Given the description of an element on the screen output the (x, y) to click on. 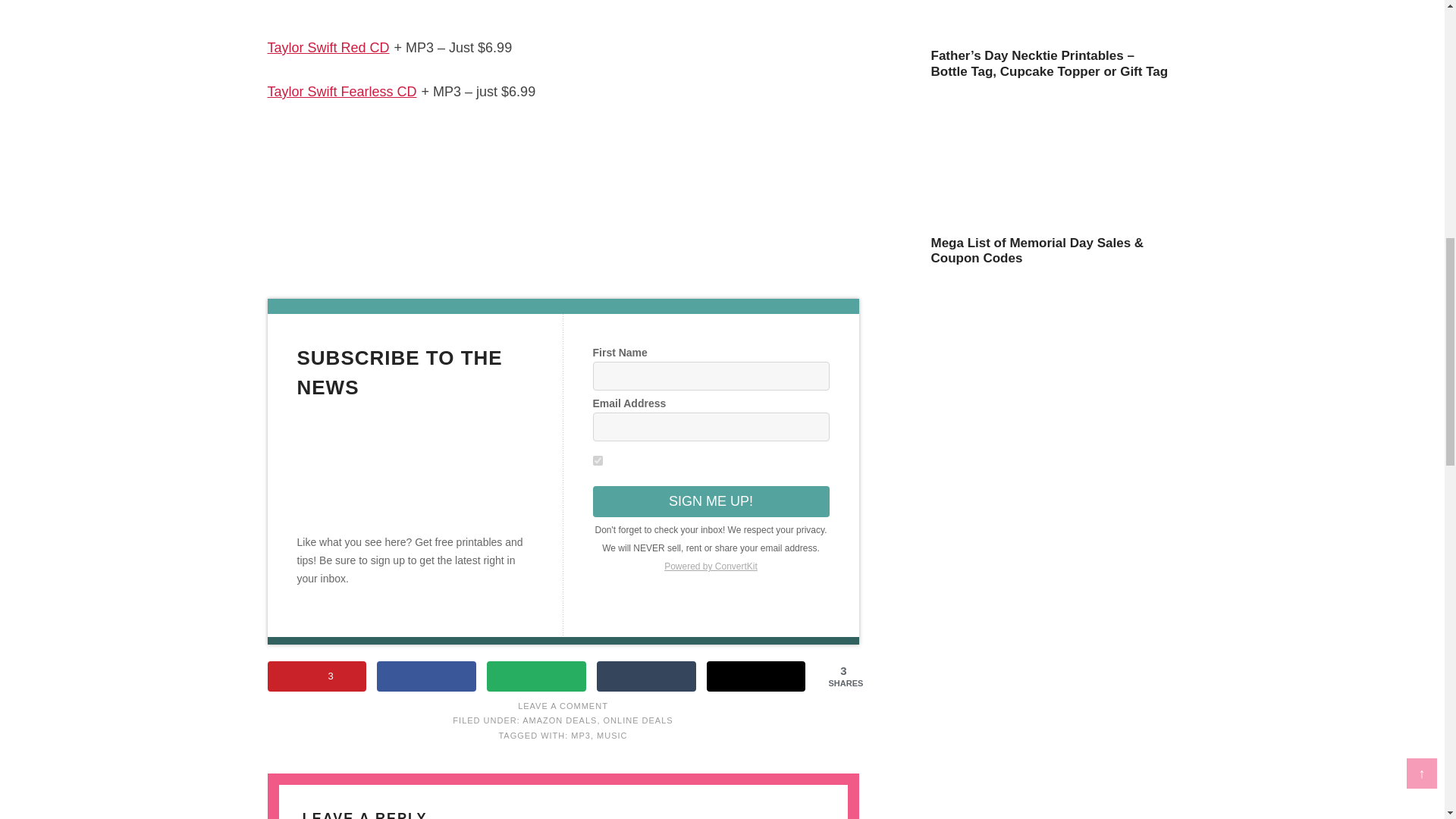
Save to Pinterest (316, 675)
Share on X (756, 675)
Taylor Swift Red CD (327, 47)
Powered by ConvertKit (710, 566)
Taylor Swift Fearless CD (341, 91)
3 (316, 675)
Send over email (536, 675)
on (597, 460)
Share on Facebook (426, 675)
Share on Tumblr (645, 675)
SIGN ME UP! (710, 501)
